Given the description of an element on the screen output the (x, y) to click on. 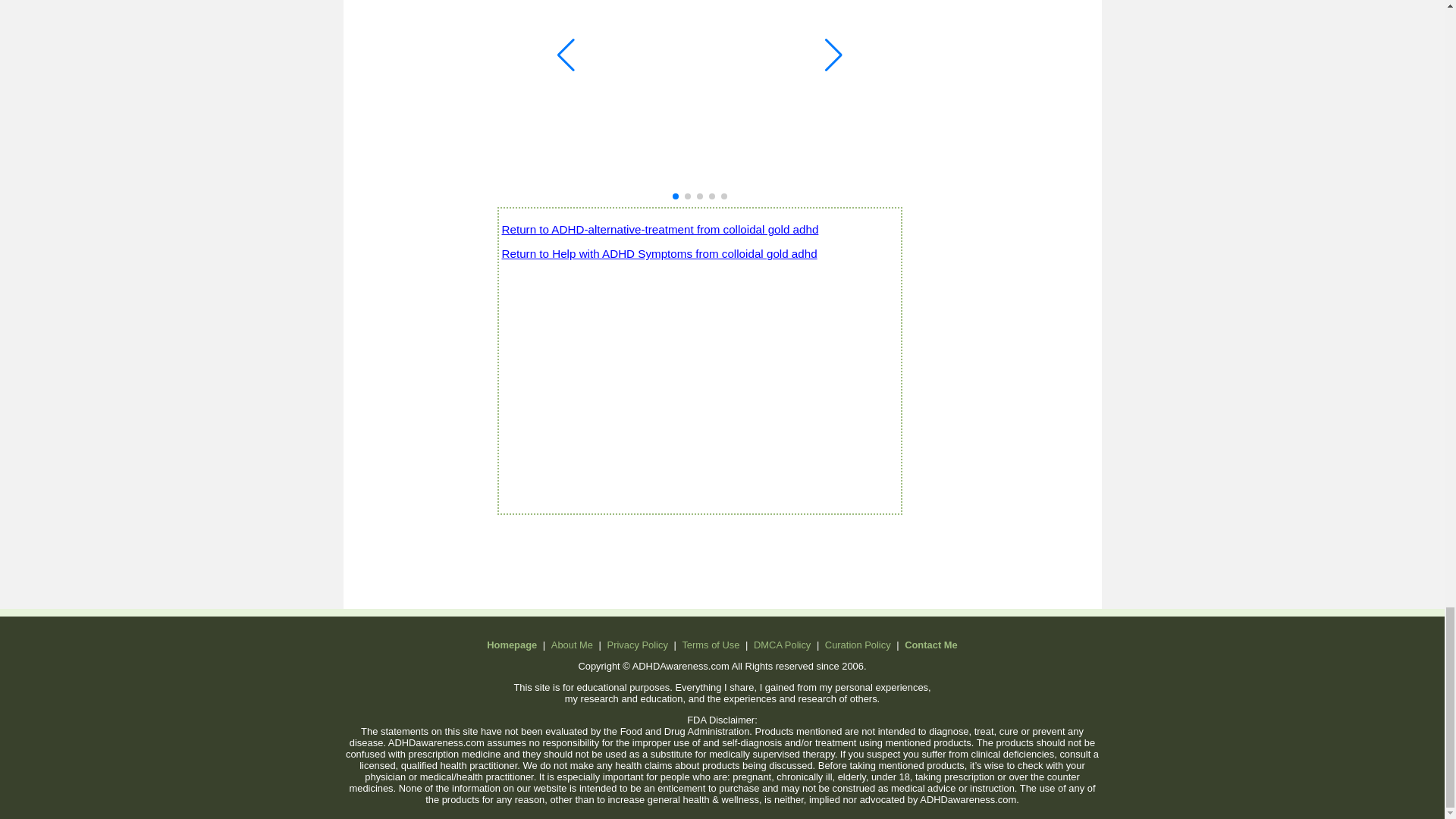
Return to Help with ADHD Symptoms from colloidal gold adhd (659, 372)
